Given the description of an element on the screen output the (x, y) to click on. 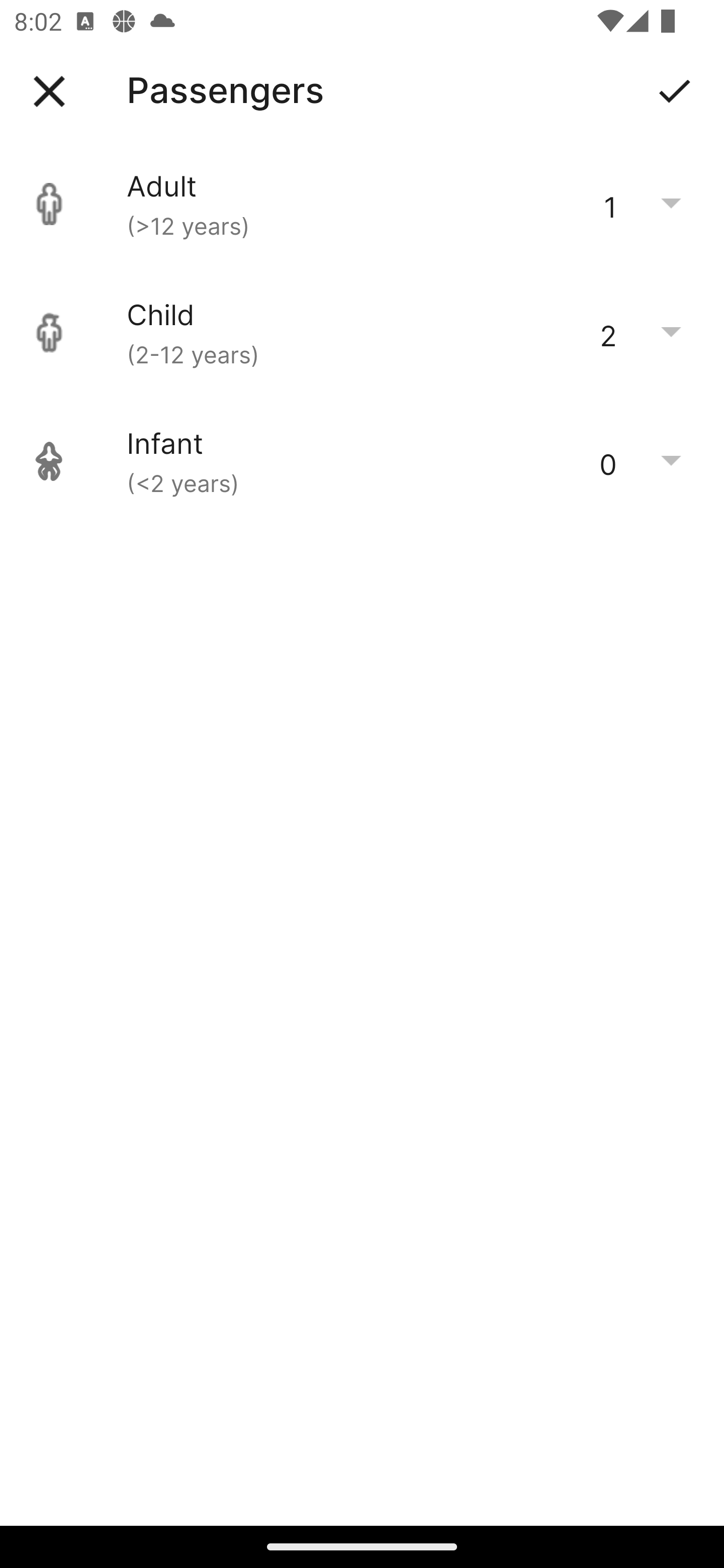
Adult (>12 years) 1 (362, 204)
Child (2-12 years) 2 (362, 332)
Infant (<2 years) 0 (362, 461)
